Given the description of an element on the screen output the (x, y) to click on. 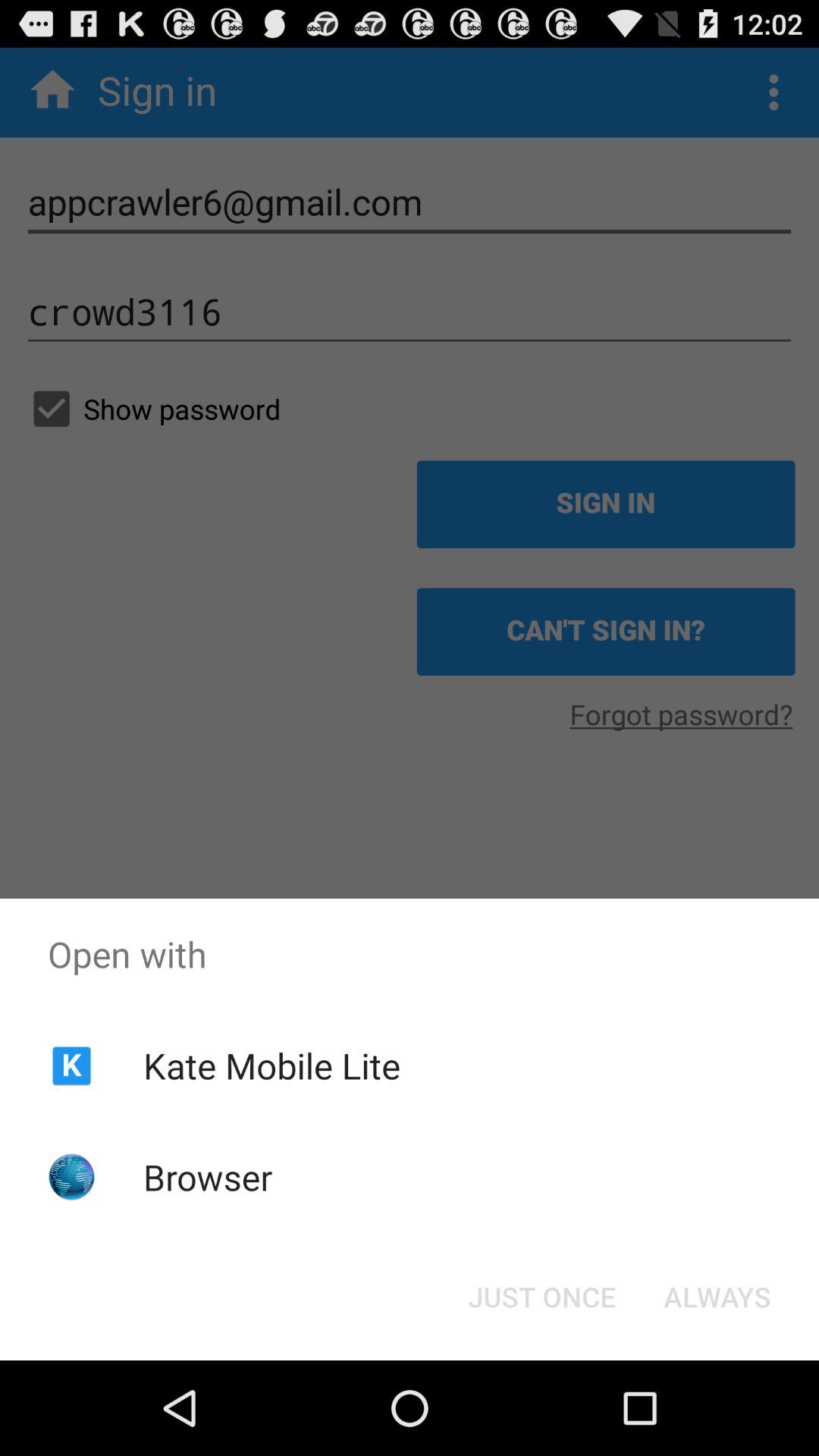
scroll to the browser item (207, 1176)
